Given the description of an element on the screen output the (x, y) to click on. 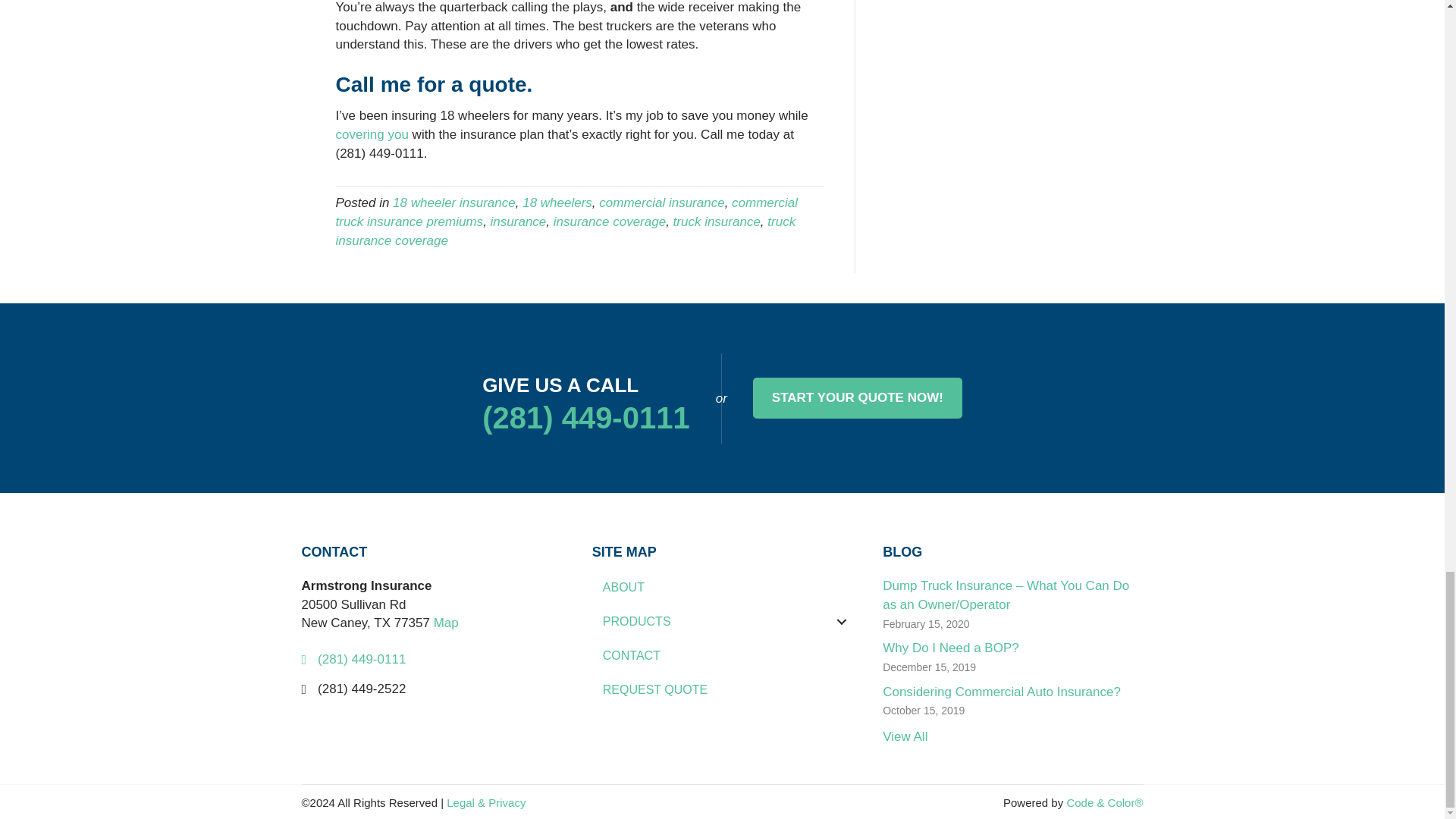
18 wheeler insurance (454, 202)
commercial truck insurance premiums (565, 212)
18 wheelers (557, 202)
commercial insurance (660, 202)
insurance coverage (609, 221)
covering you (370, 134)
insurance (518, 221)
